Given the description of an element on the screen output the (x, y) to click on. 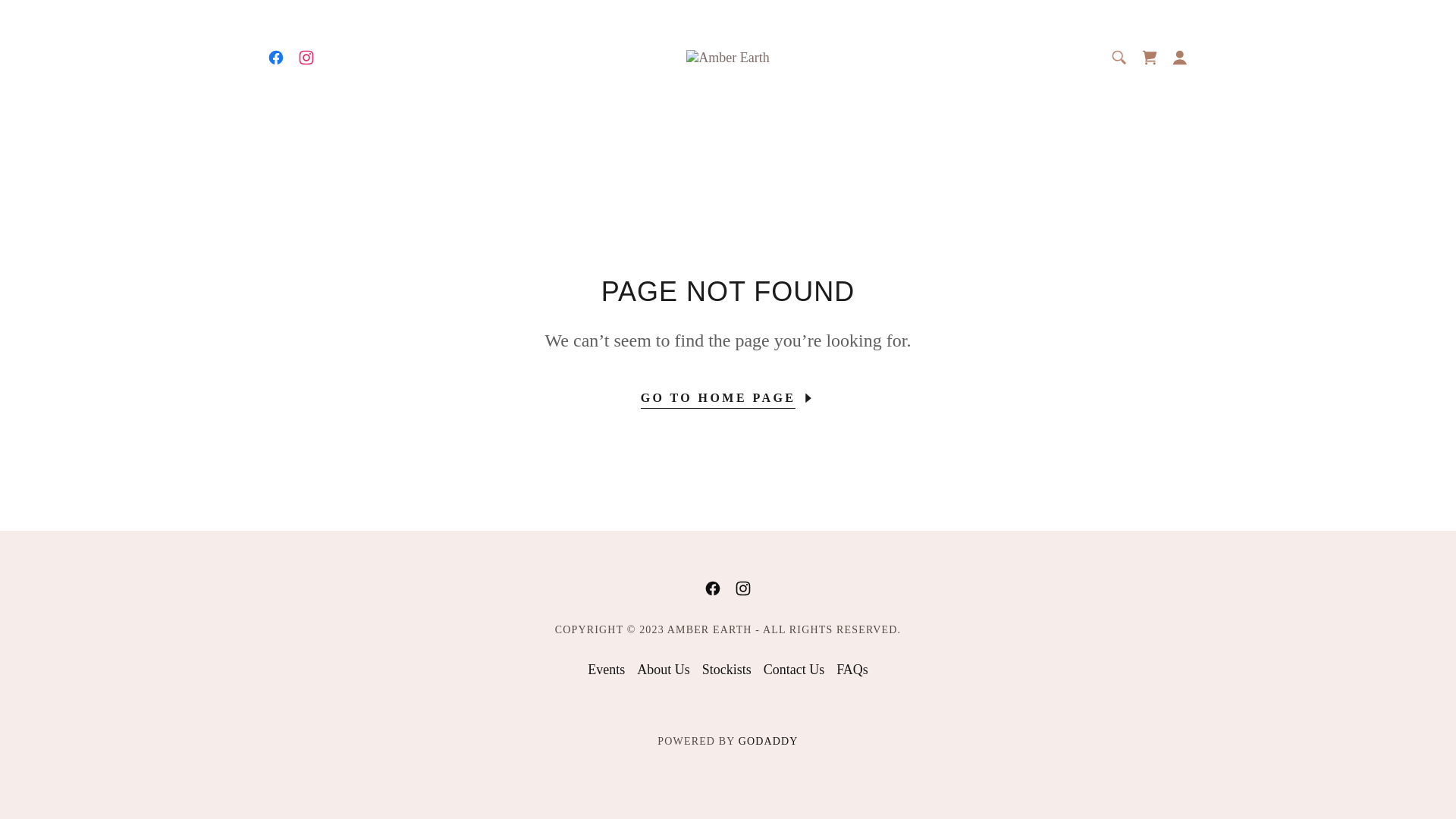
Amber Earth Element type: hover (727, 56)
GODADDY Element type: text (768, 740)
FAQs Element type: text (852, 669)
About Us Element type: text (663, 669)
Events Element type: text (605, 669)
Contact Us Element type: text (794, 669)
GO TO HOME PAGE Element type: text (727, 392)
Stockists Element type: text (726, 669)
